Given the description of an element on the screen output the (x, y) to click on. 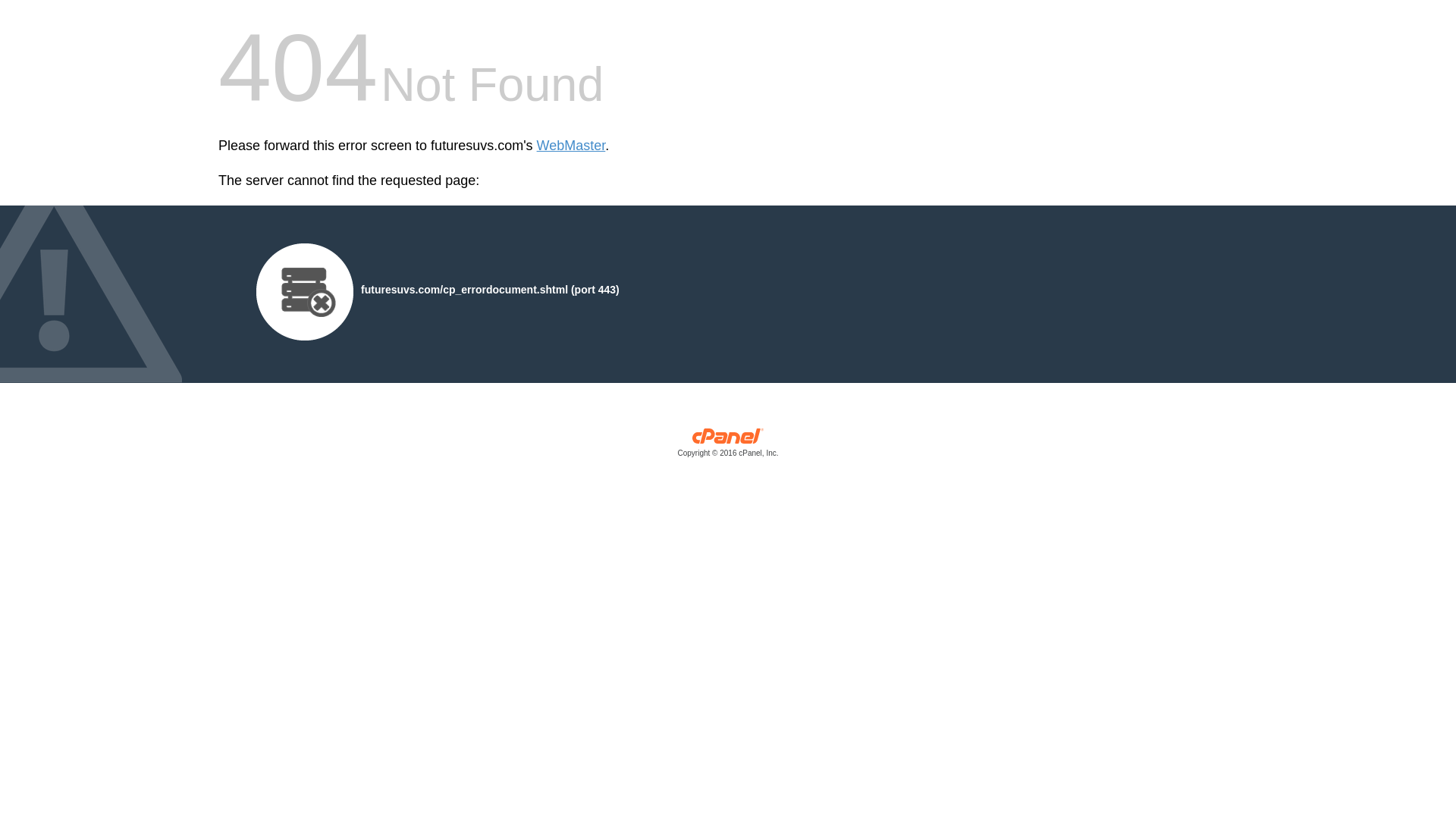
cPanel, Inc. (727, 446)
WebMaster (571, 145)
